Given the description of an element on the screen output the (x, y) to click on. 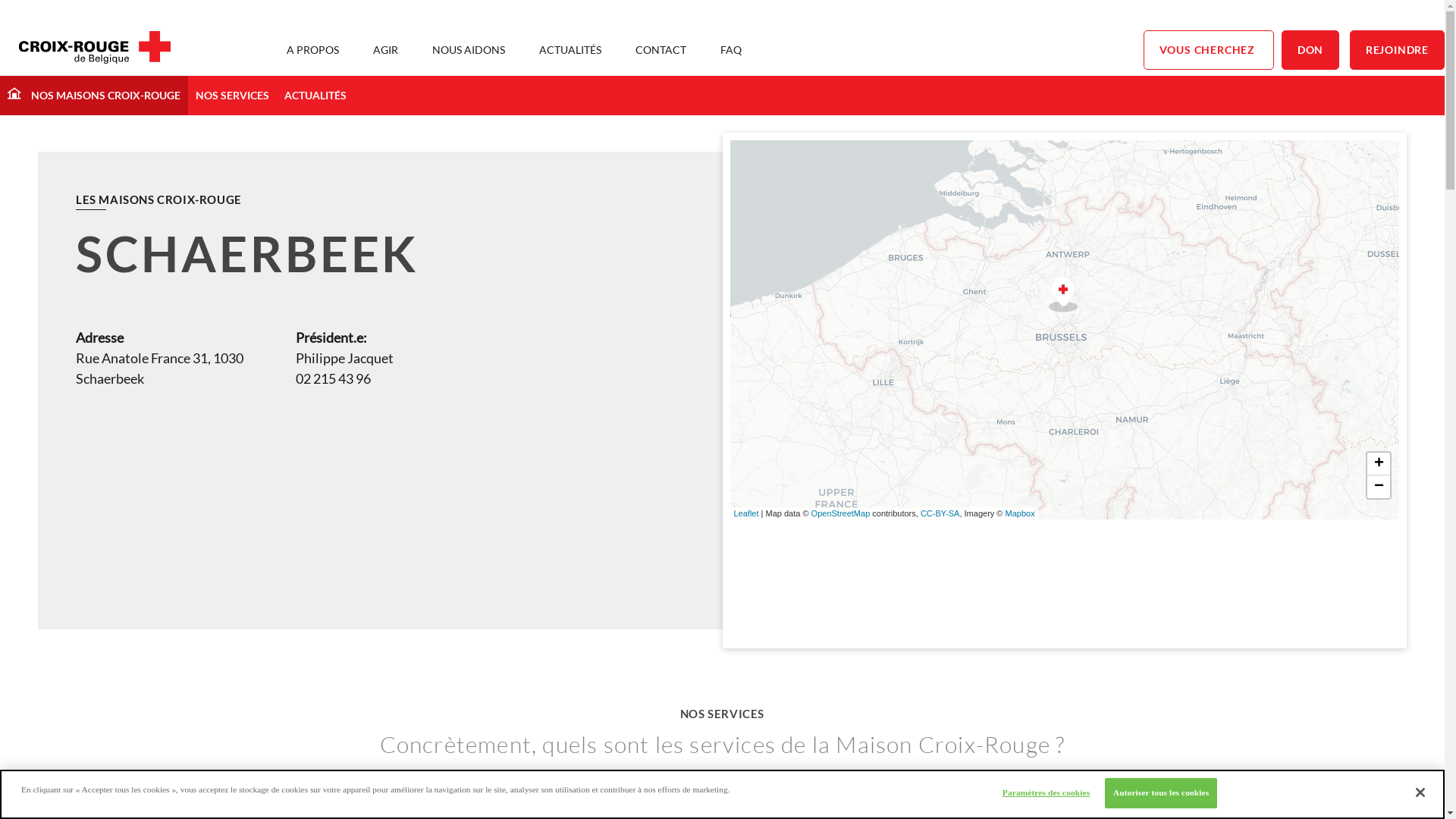
Autoriser tous les cookies Element type: text (1160, 793)
Leaflet Element type: text (746, 512)
REJOINDRE Element type: text (1396, 49)
NOS SERVICES Element type: text (232, 95)
AGIR Element type: text (385, 49)
A PROPOS Element type: text (312, 49)
CONTACT Element type: text (660, 49)
FAQ Element type: text (730, 49)
VOUS CHERCHEZ Element type: text (1208, 49)
CC-BY-SA Element type: text (940, 512)
+ Element type: text (1378, 462)
OpenStreetMap Element type: text (840, 512)
NOUS AIDONS Element type: text (468, 49)
Mapbox Element type: text (1020, 512)
NOS MAISONS CROIX-ROUGE Element type: text (94, 95)
DON Element type: text (1310, 49)
